Given the description of an element on the screen output the (x, y) to click on. 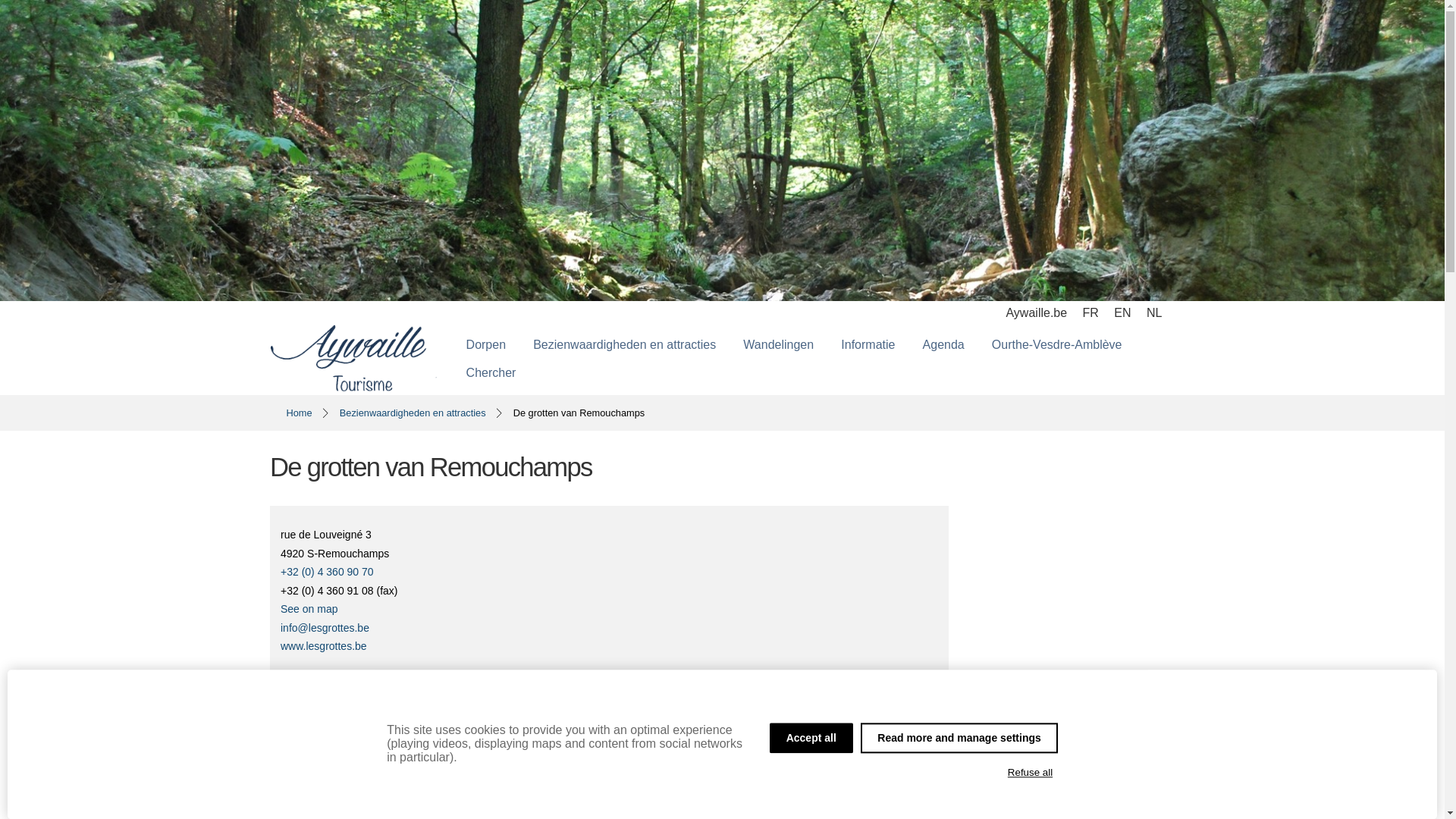
Bezienwaardigheden en attracties Element type: text (624, 344)
See on map Element type: text (309, 608)
Home Element type: text (299, 412)
Accept all Element type: text (811, 737)
Chercher Element type: text (491, 372)
Read more and manage settings Element type: text (958, 737)
FR Element type: text (1090, 312)
Dorpen Element type: text (485, 344)
NL Element type: text (1153, 312)
Refuse all Element type: text (1029, 772)
Bezienwaardigheden en attracties Element type: text (412, 412)
info@lesgrottes.be Element type: text (324, 627)
EN Element type: text (1121, 312)
Agenda Element type: text (943, 344)
www.lesgrottes.be Element type: text (323, 646)
Wandelingen Element type: text (778, 344)
Aywaille.be Element type: text (1036, 312)
+32 (0) 4 360 90 70 Element type: text (609, 572)
Informatie Element type: text (867, 344)
